Given the description of an element on the screen output the (x, y) to click on. 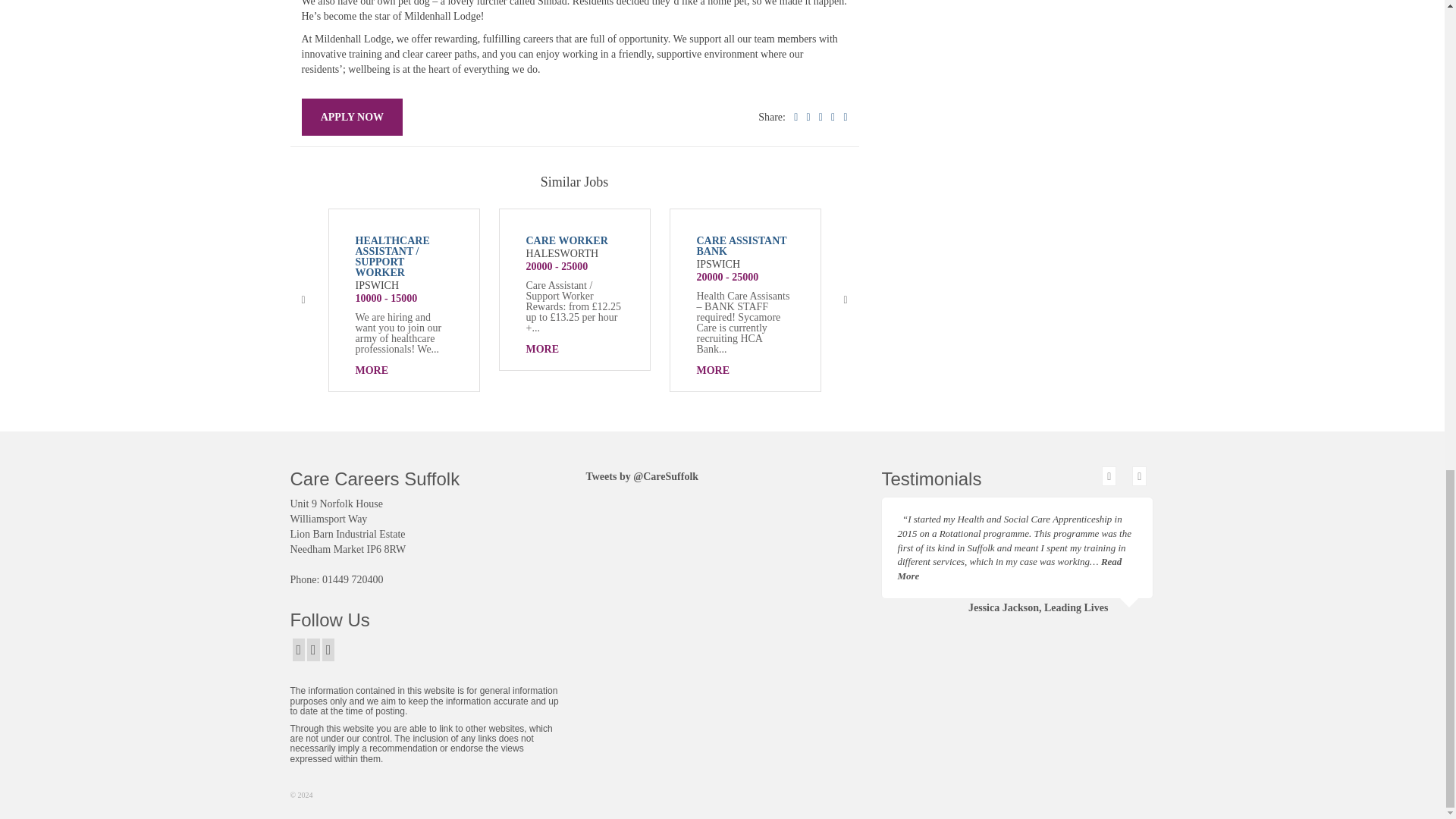
Apply Now (352, 116)
